Given the description of an element on the screen output the (x, y) to click on. 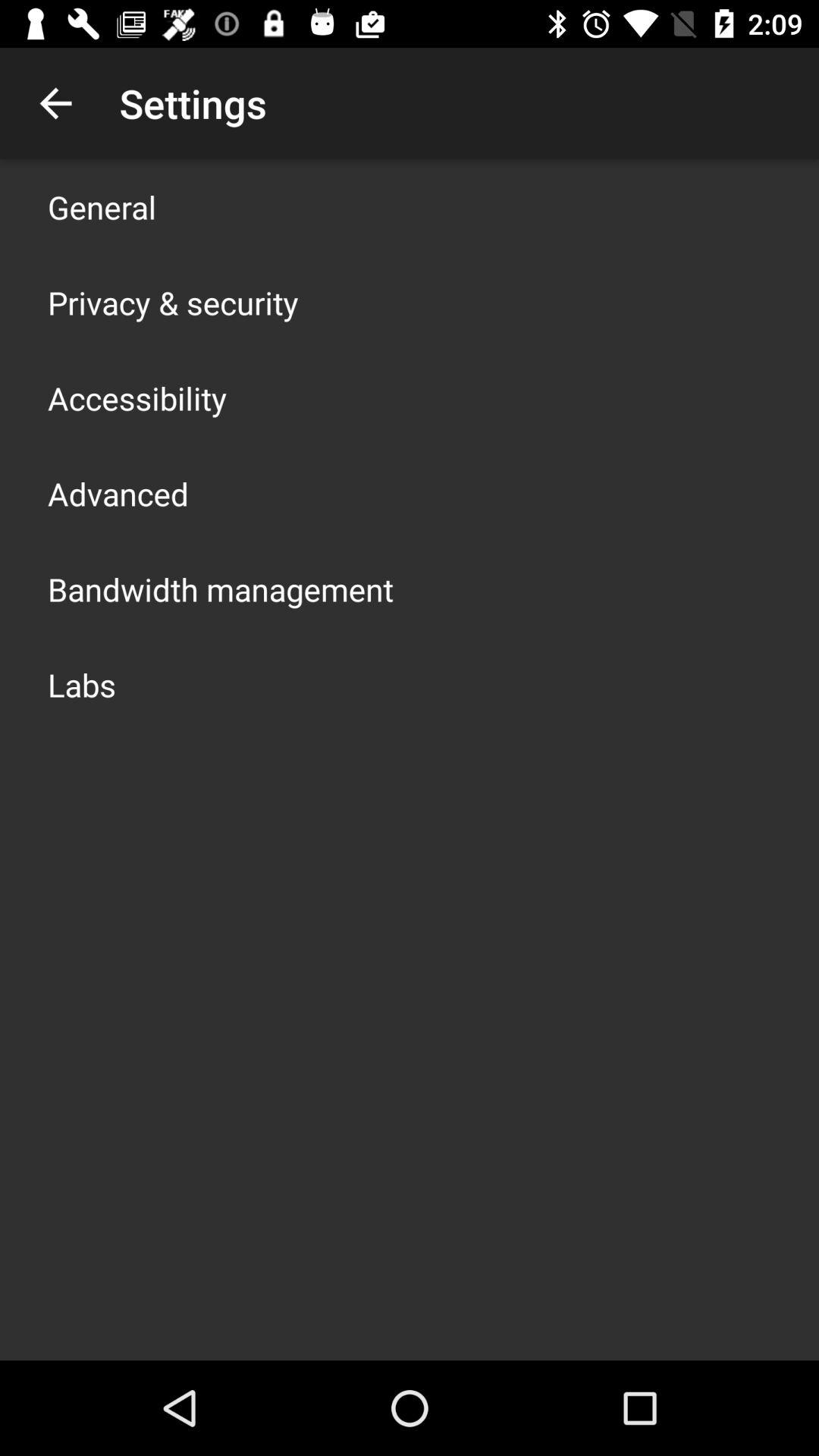
turn on labs item (81, 684)
